Given the description of an element on the screen output the (x, y) to click on. 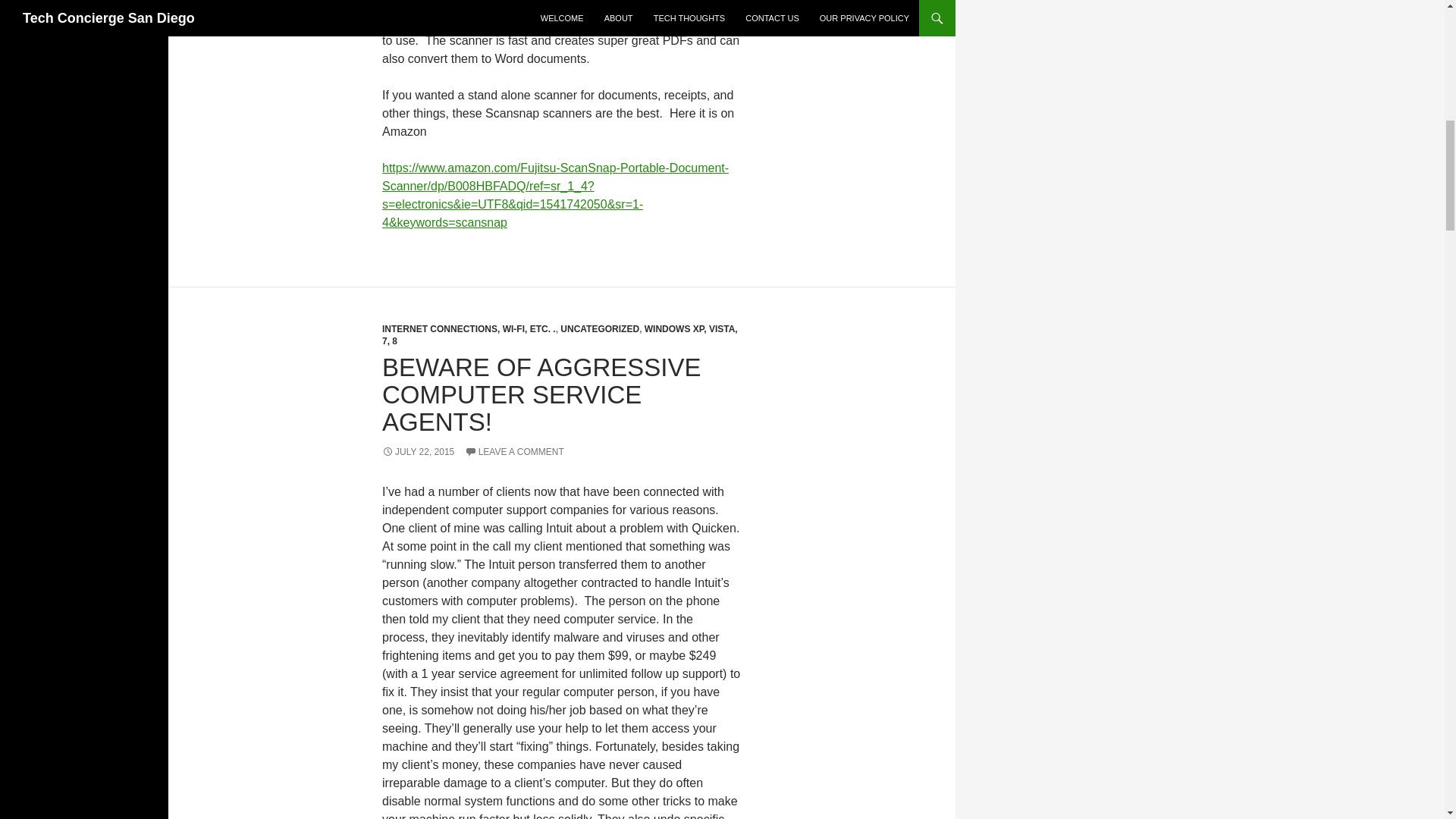
LEAVE A COMMENT (514, 451)
JULY 22, 2015 (417, 451)
BEWARE OF AGGRESSIVE COMPUTER SERVICE AGENTS! (541, 393)
INTERNET CONNECTIONS, WI-FI, ETC. . (468, 328)
WINDOWS XP, VISTA, 7, 8 (559, 334)
UNCATEGORIZED (599, 328)
